Given the description of an element on the screen output the (x, y) to click on. 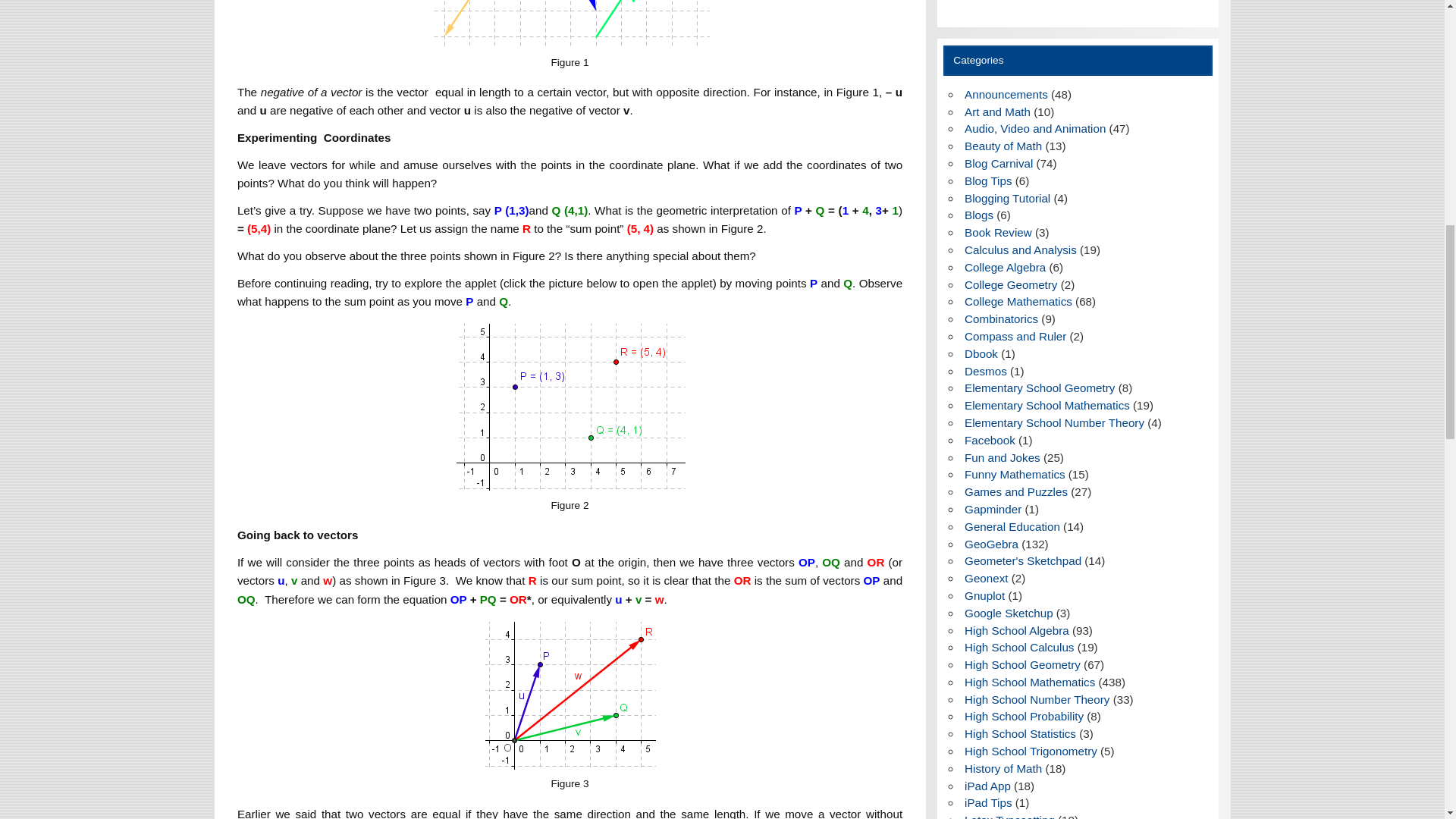
vectors1-1 (569, 23)
vectors1-3 (569, 694)
vectors1-2 (569, 406)
